Given the description of an element on the screen output the (x, y) to click on. 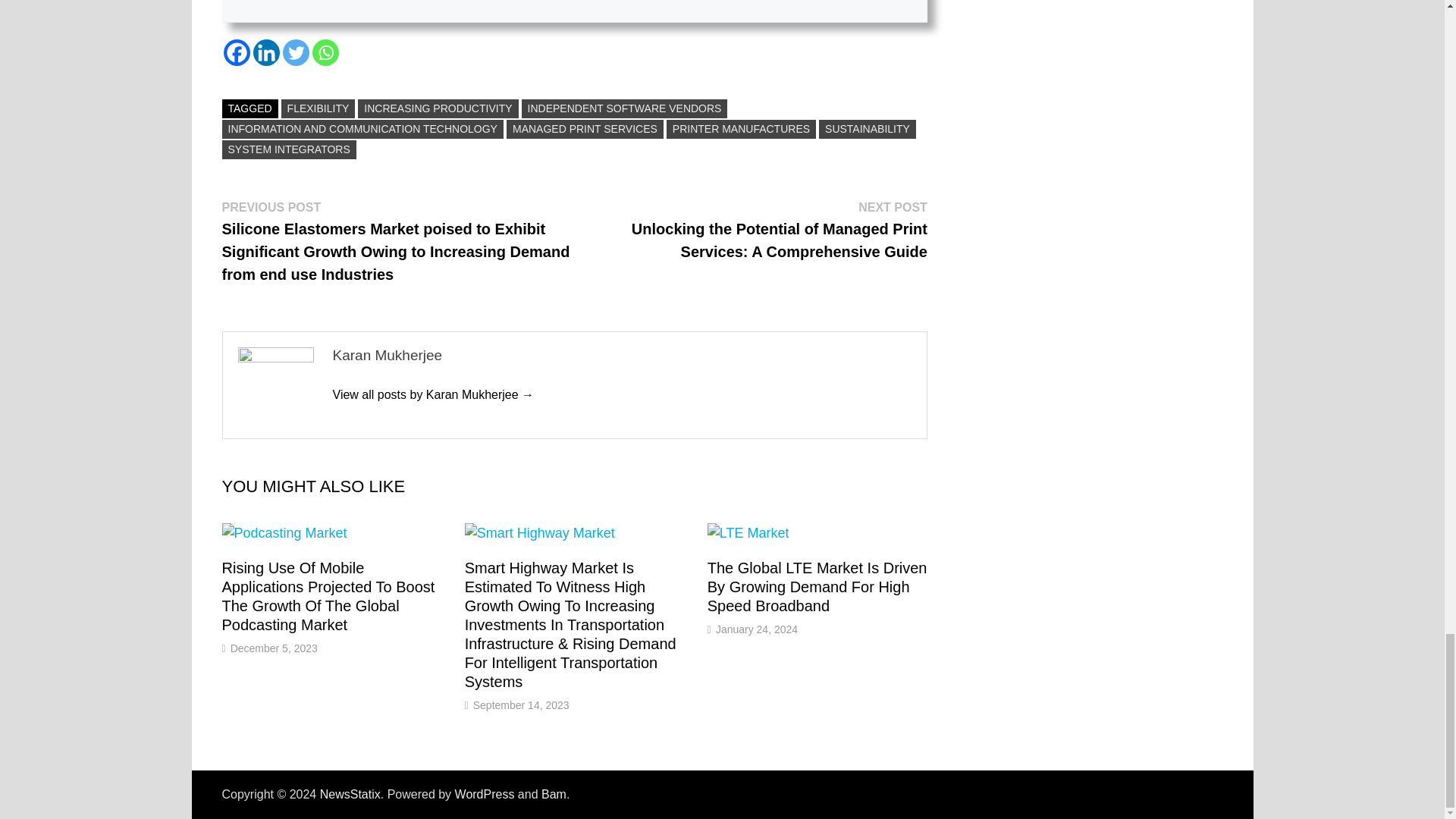
Whatsapp (326, 52)
Karan Mukherjee (432, 394)
Twitter (295, 52)
NewsStatix (350, 793)
Linkedin (266, 52)
Facebook (235, 52)
